Given the description of an element on the screen output the (x, y) to click on. 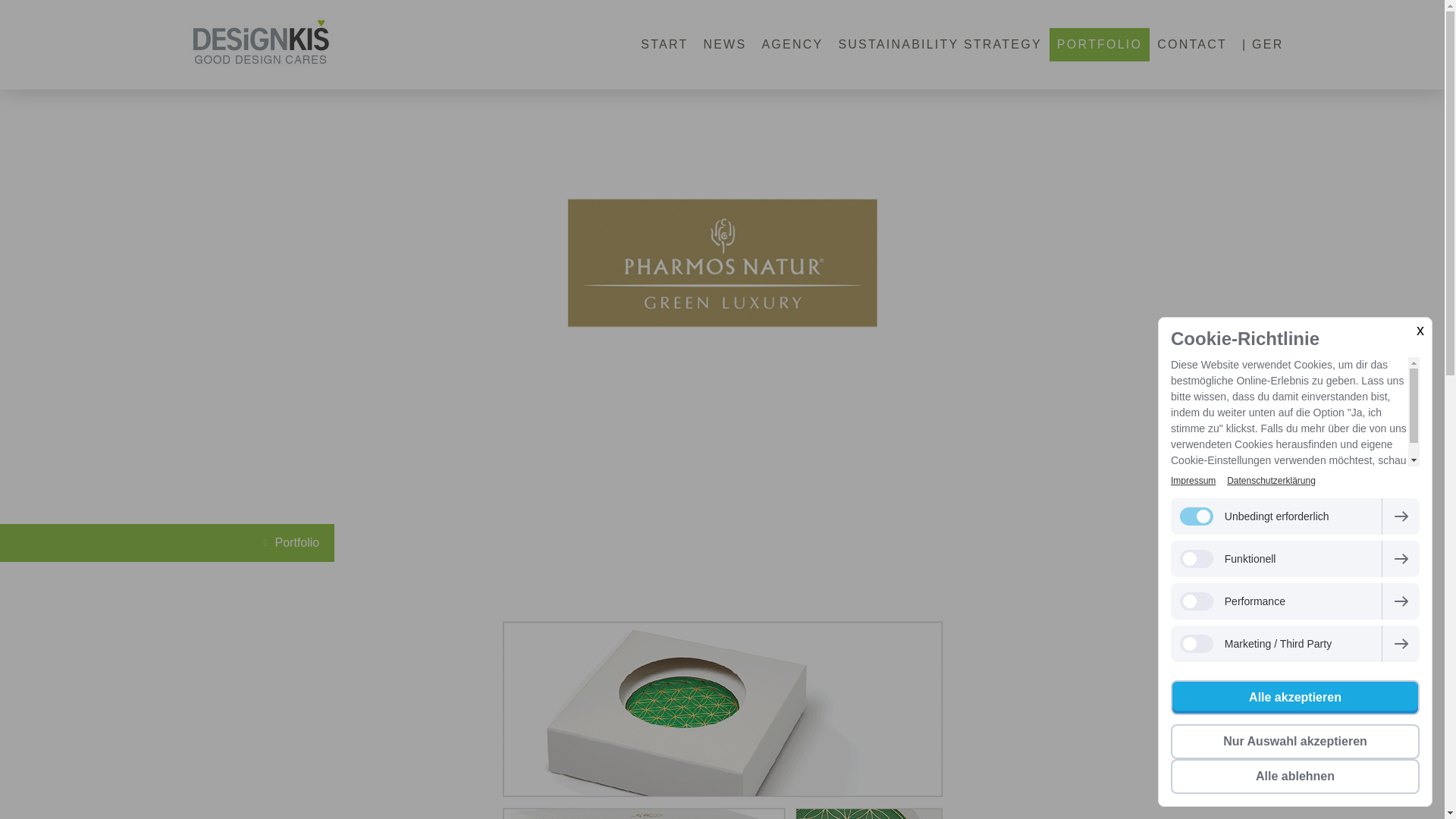
START (664, 44)
NEWS (724, 44)
SUSTAINABILITY STRATEGY (938, 44)
AGENCY (791, 44)
CONTACT (1192, 44)
PORTFOLIO (1099, 44)
Portfolio (292, 542)
